Given the description of an element on the screen output the (x, y) to click on. 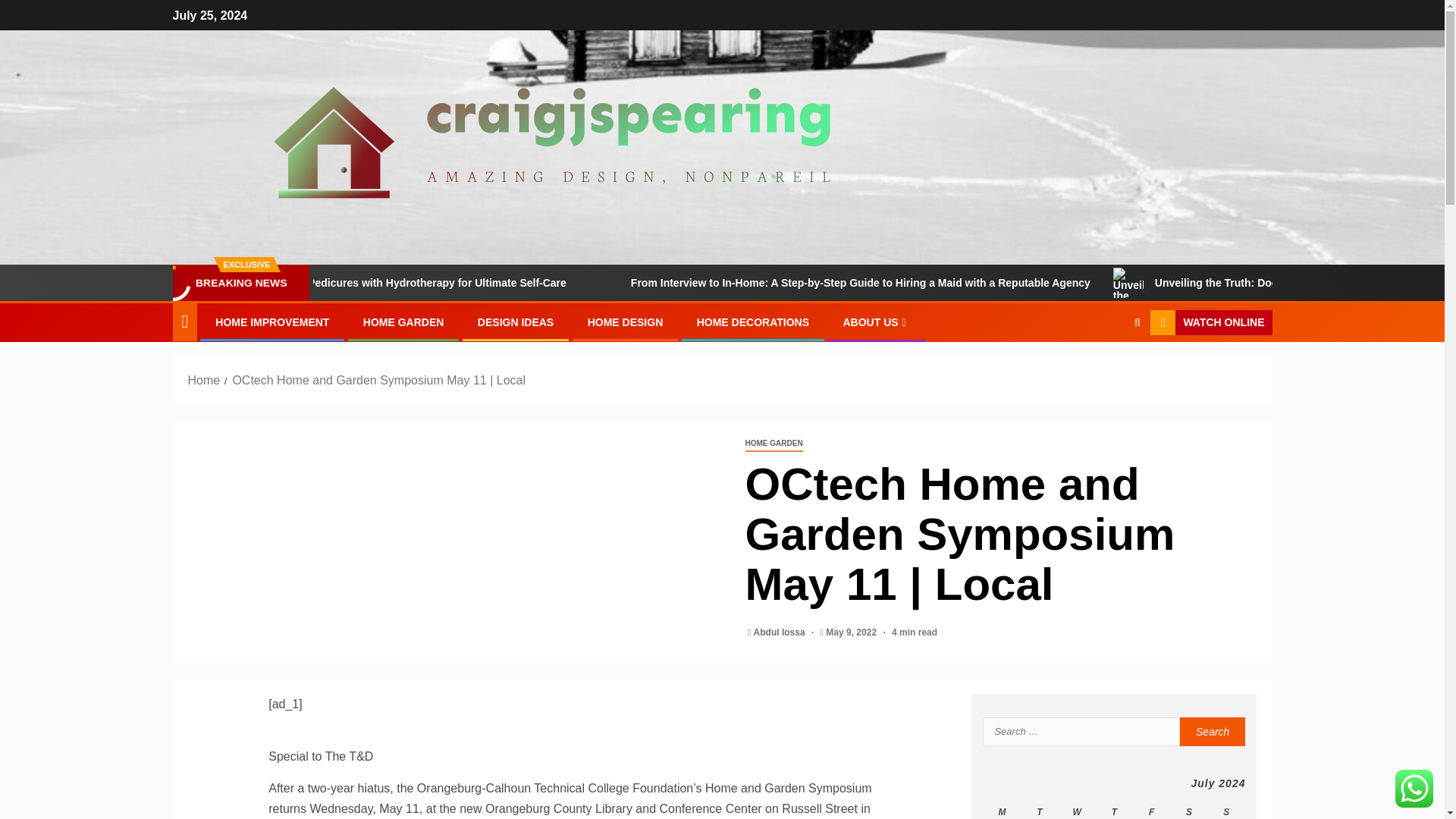
DESIGN IDEAS (515, 322)
Combining Pedicures with Hydrotherapy for Ultimate Self-Care (502, 282)
HOME DESIGN (625, 322)
Abdul Iossa (781, 632)
ABOUT US (875, 322)
Search (1107, 369)
Search (1212, 731)
WATCH ONLINE (1210, 322)
HOME DECORATIONS (753, 322)
Search (1212, 731)
HOME GARDEN (773, 443)
HOME GARDEN (403, 322)
HOME IMPROVEMENT (272, 322)
Home (204, 379)
